Given the description of an element on the screen output the (x, y) to click on. 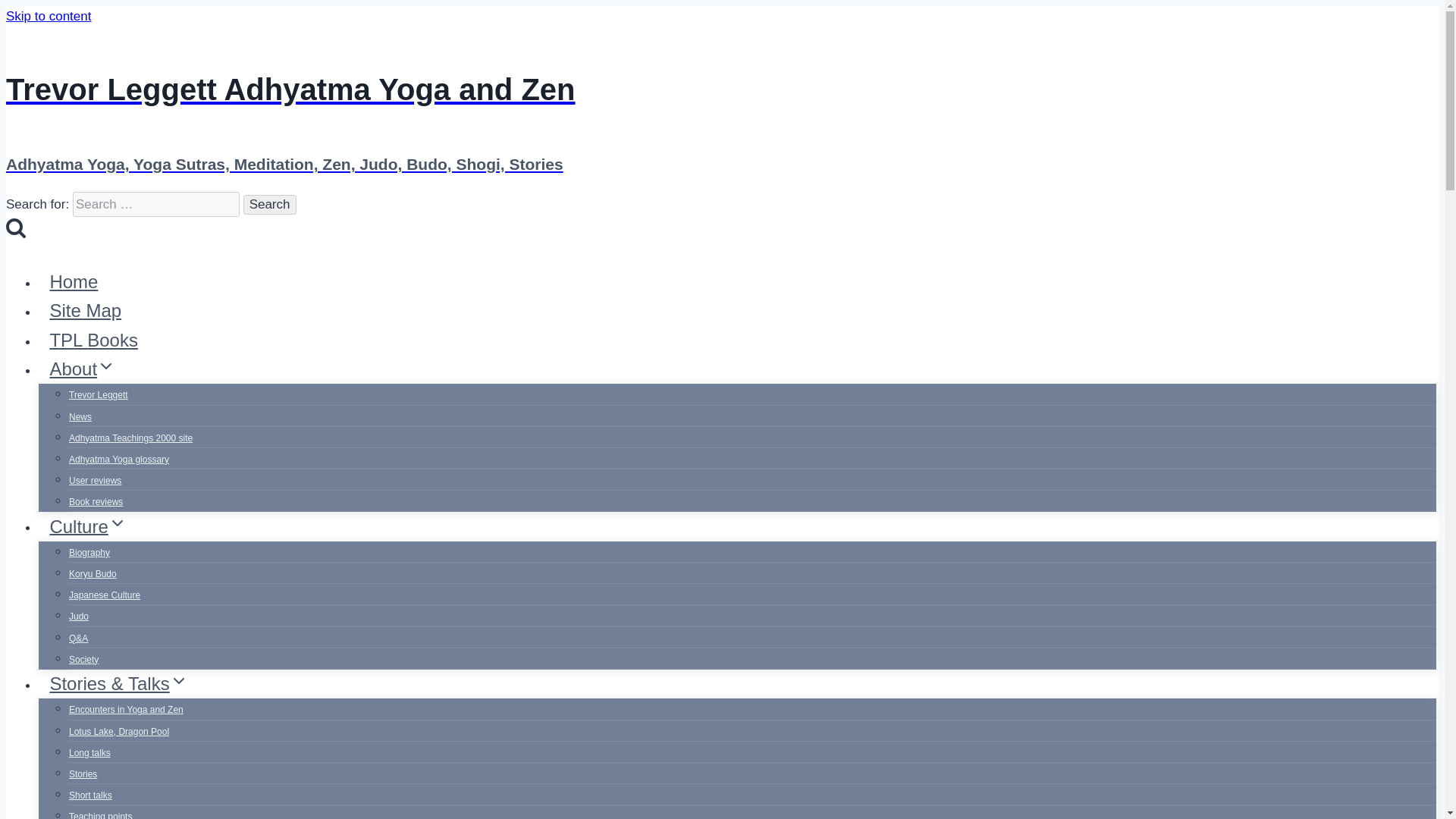
Skip to content (47, 16)
Expand (116, 523)
Japanese Culture (103, 594)
Adhyatma Teachings 2000 site (130, 438)
Search (270, 204)
CultureExpand (87, 526)
Short talks (90, 795)
Biography (89, 552)
Teaching points (100, 810)
Long talks (89, 752)
